Given the description of an element on the screen output the (x, y) to click on. 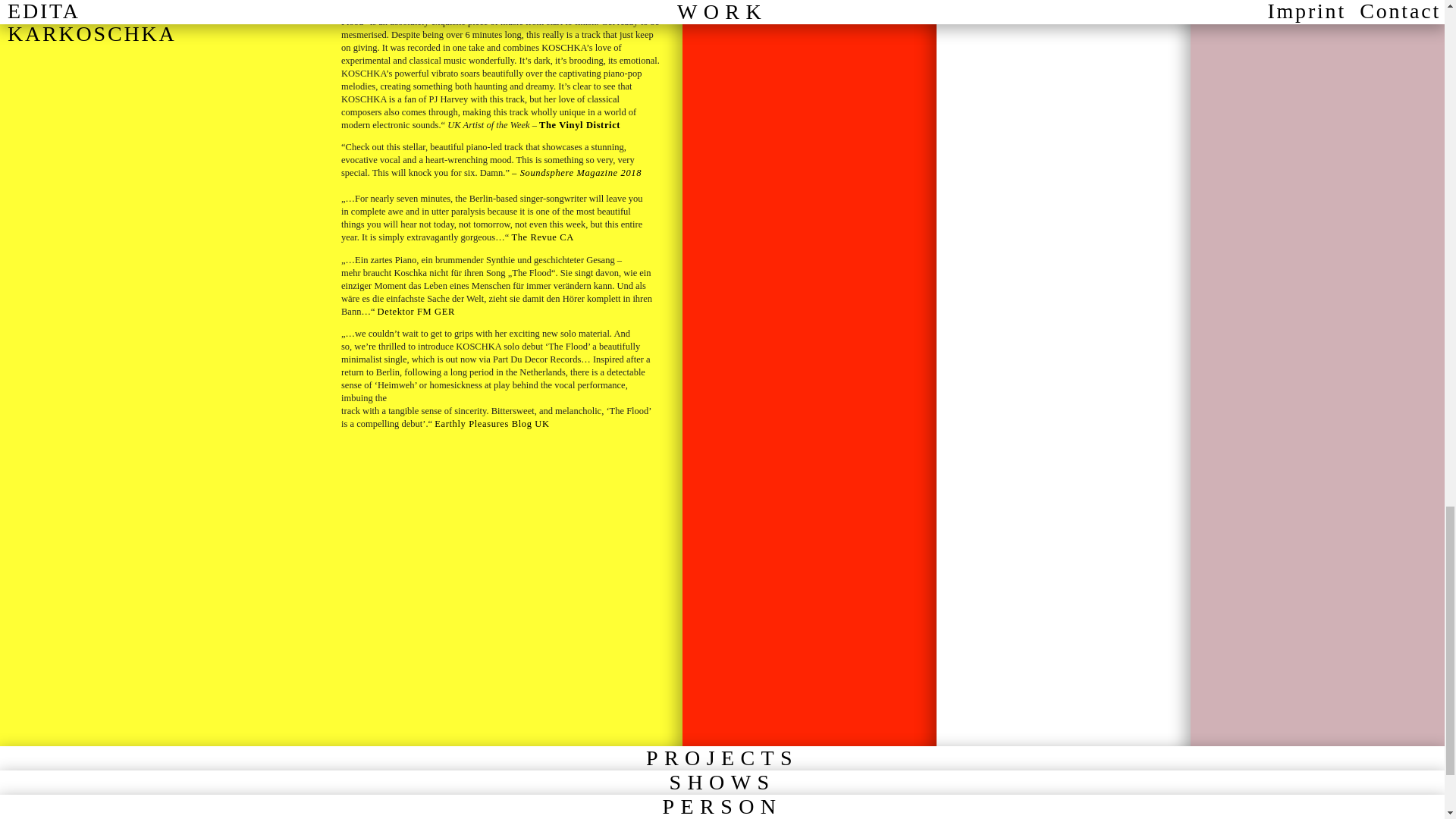
Detektor FM GER (415, 311)
The Revue CA (542, 236)
Earthly Pleasures Blog UK (490, 423)
The Vinyl District (579, 124)
